Given the description of an element on the screen output the (x, y) to click on. 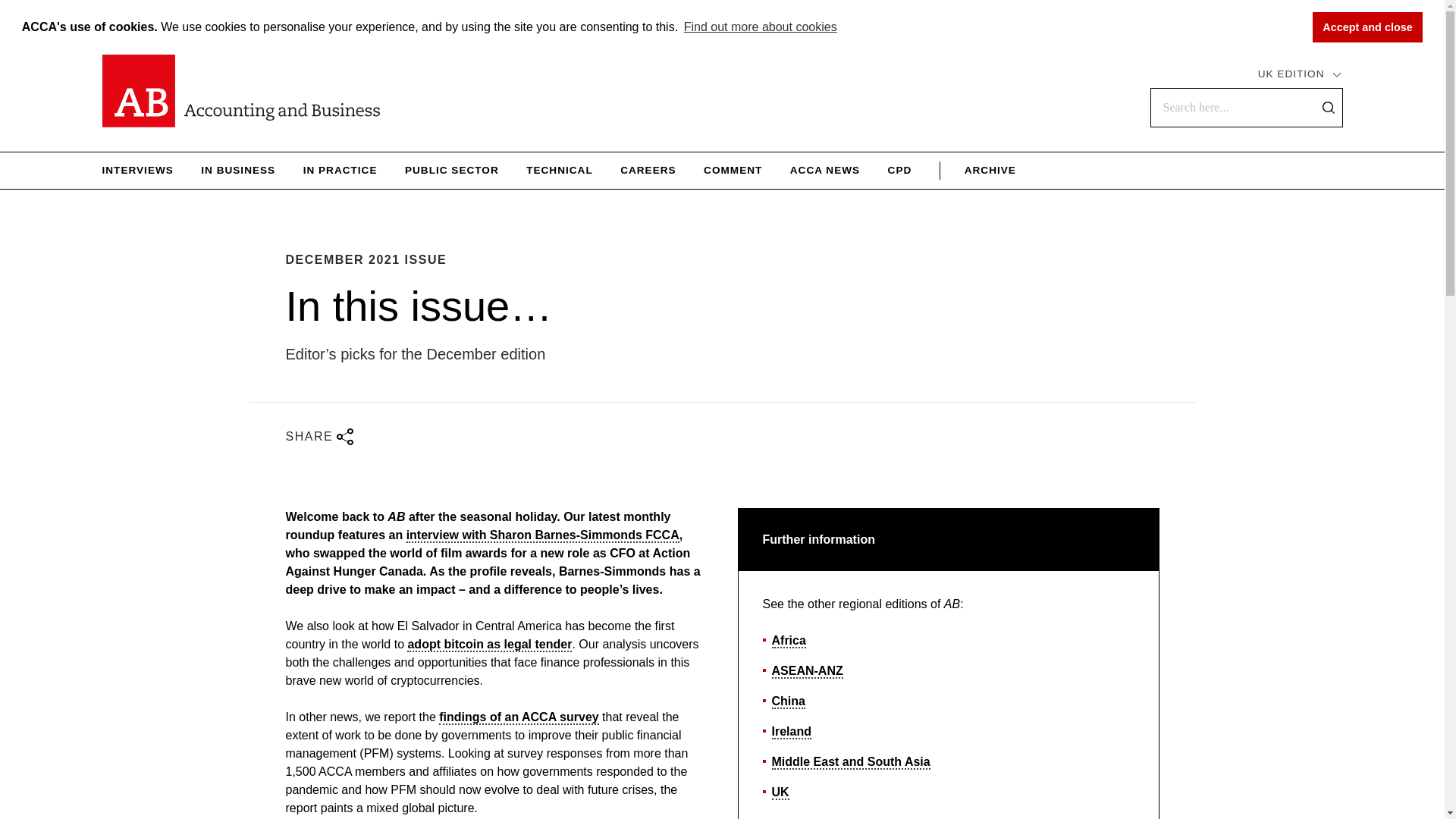
IN PRACTICE (339, 169)
PUBLIC SECTOR (451, 169)
Find out more about cookies (760, 26)
CPD (900, 169)
INTERVIEWS (137, 169)
TECHNICAL (558, 169)
CAREERS (647, 169)
ACCA NEWS (825, 169)
COMMENT (732, 169)
ARCHIVE (977, 169)
IN BUSINESS (237, 169)
Accept and close (1367, 27)
UK EDITION (1299, 74)
